Given the description of an element on the screen output the (x, y) to click on. 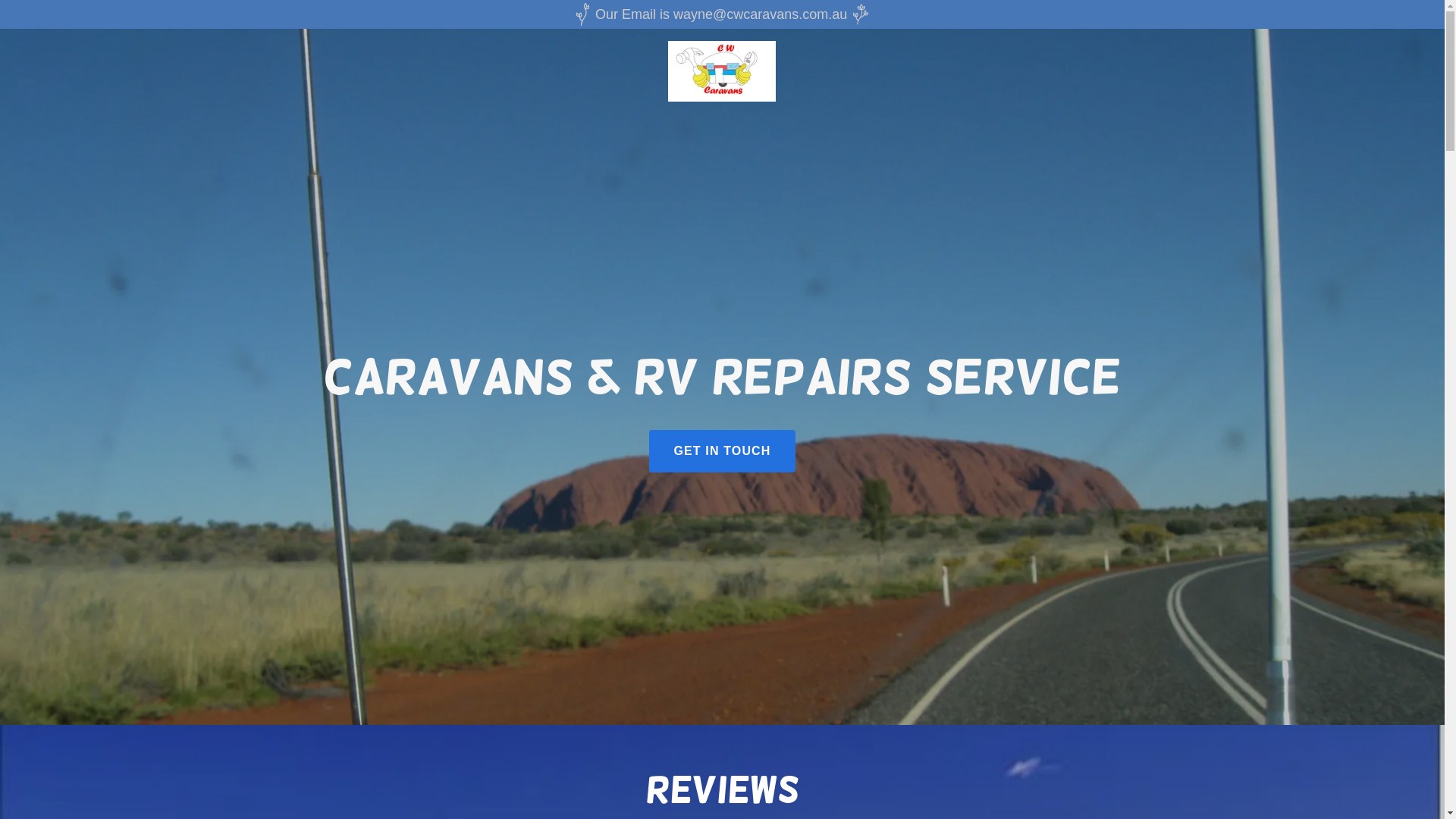
Our Email is wayne@cwcaravans.com.au Element type: text (722, 14)
CW Caravans  Pty Ltd Element type: hover (721, 70)
GET IN TOUCH Element type: text (721, 450)
